Given the description of an element on the screen output the (x, y) to click on. 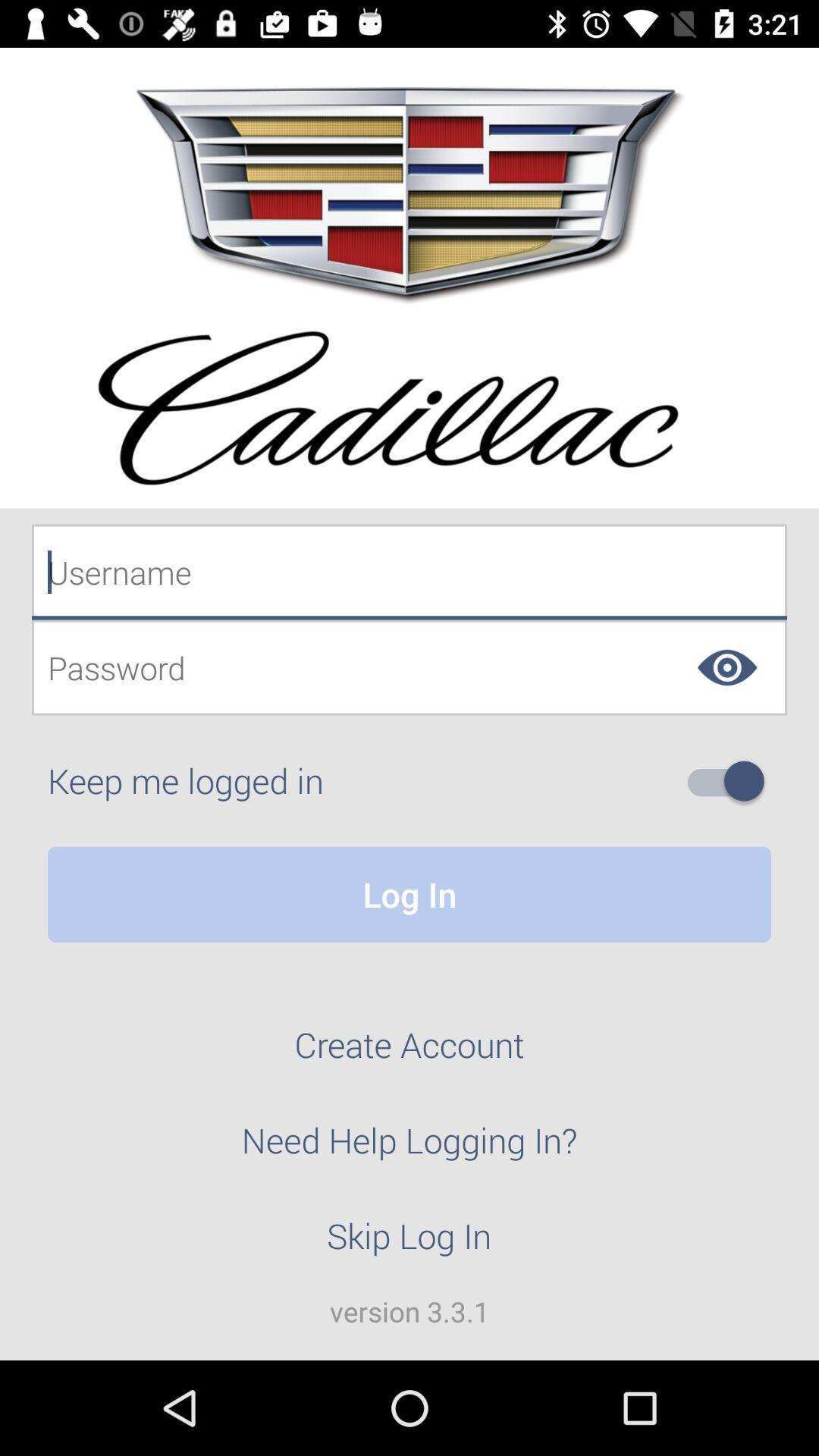
enter username (409, 571)
